Given the description of an element on the screen output the (x, y) to click on. 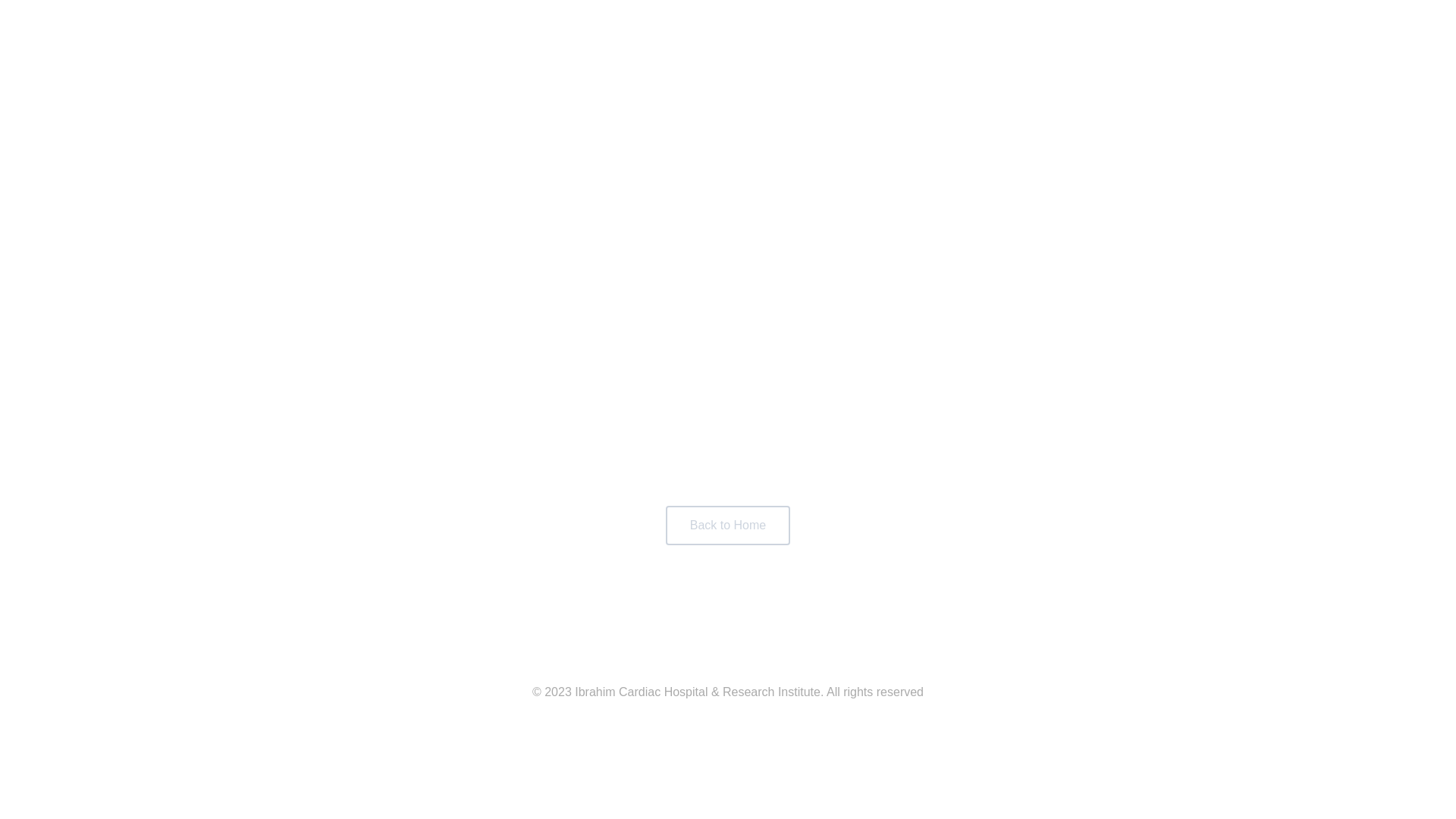
Back to Home Element type: text (727, 525)
